Given the description of an element on the screen output the (x, y) to click on. 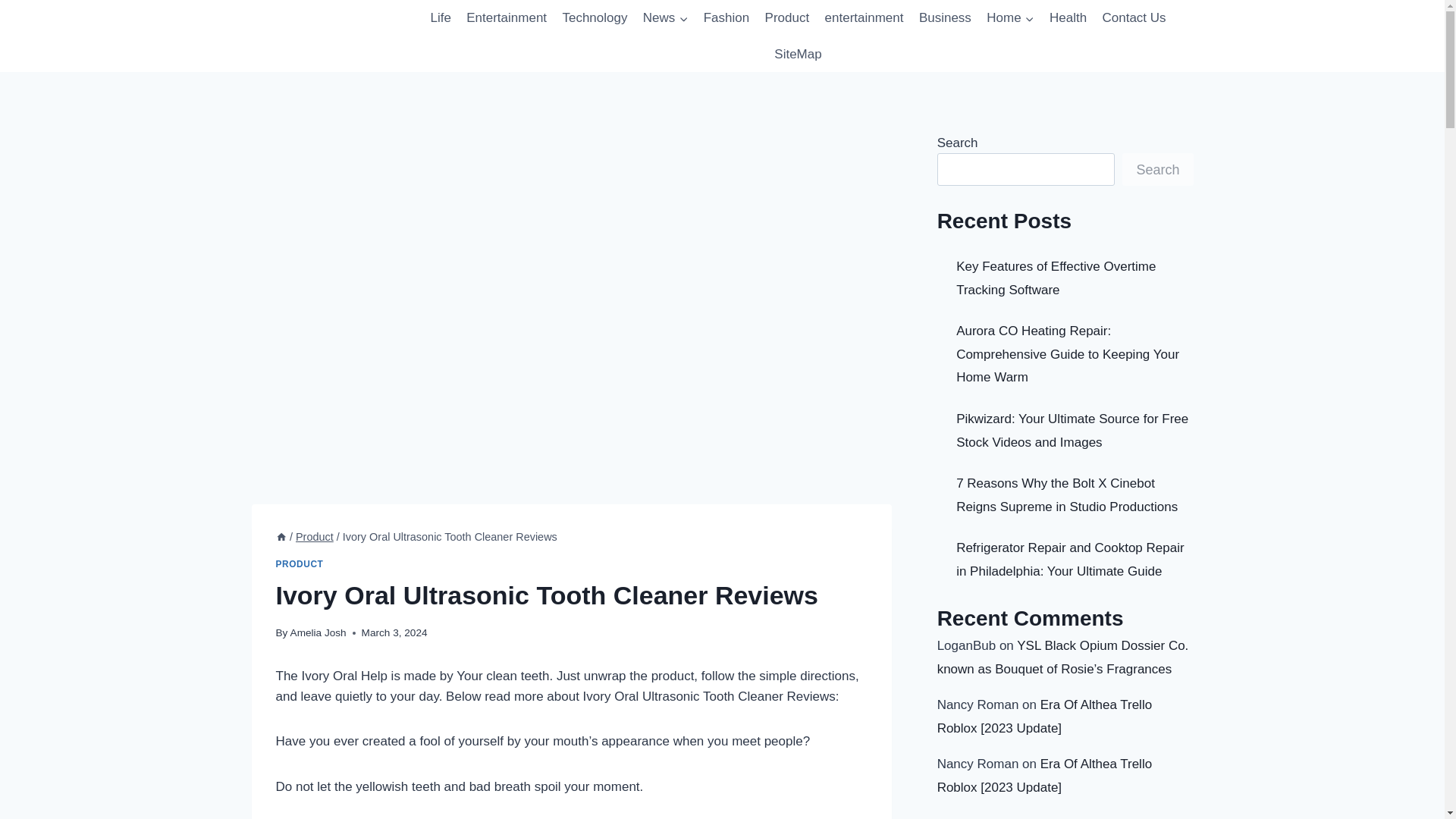
Product (314, 536)
Life (440, 18)
Entertainment (506, 18)
PRODUCT (299, 563)
Home (1010, 18)
Amelia Josh (317, 632)
Contact Us (1133, 18)
Product (786, 18)
SiteMap (798, 54)
News (664, 18)
